Given the description of an element on the screen output the (x, y) to click on. 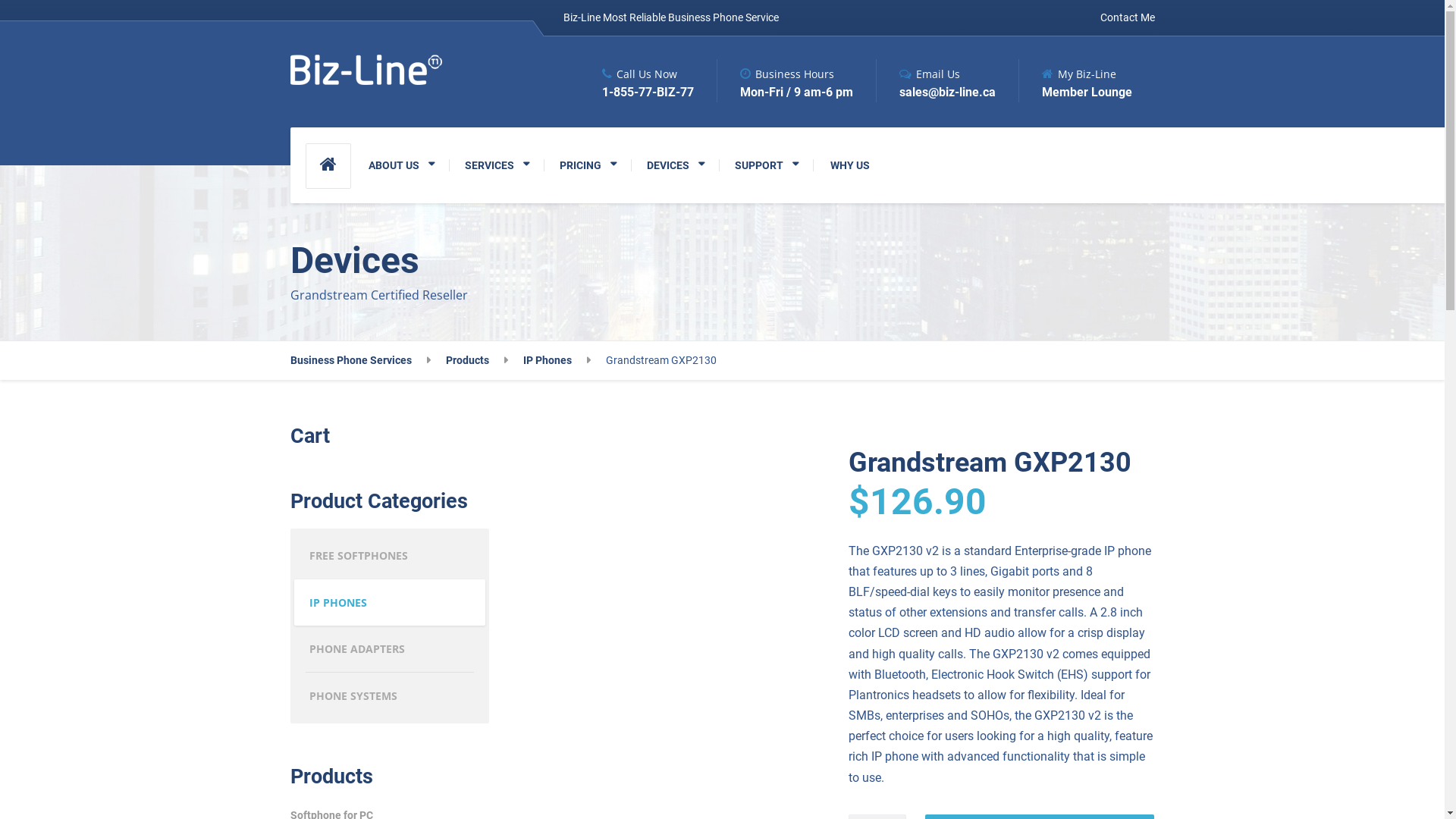
IP Phones Element type: text (556, 360)
Contact Me Element type: text (1123, 17)
Products Element type: text (476, 360)
PRICING Element type: text (587, 165)
PHONE ADAPTERS Element type: text (390, 648)
My Biz-Line
Member Lounge Element type: text (1074, 80)
Call Us Now
1-855-77-BIZ-77 Element type: text (647, 80)
WHY US Element type: text (848, 165)
IP PHONES Element type: text (390, 602)
PHONE SYSTEMS Element type: text (390, 695)
Email Us
sales@biz-line.ca Element type: text (934, 80)
SERVICES Element type: text (495, 165)
FREE SOFTPHONES Element type: text (390, 555)
DEVICES Element type: text (674, 165)
ABOUT US Element type: text (401, 165)
SUPPORT Element type: text (765, 165)
Business Phone Services Element type: text (359, 360)
